Given the description of an element on the screen output the (x, y) to click on. 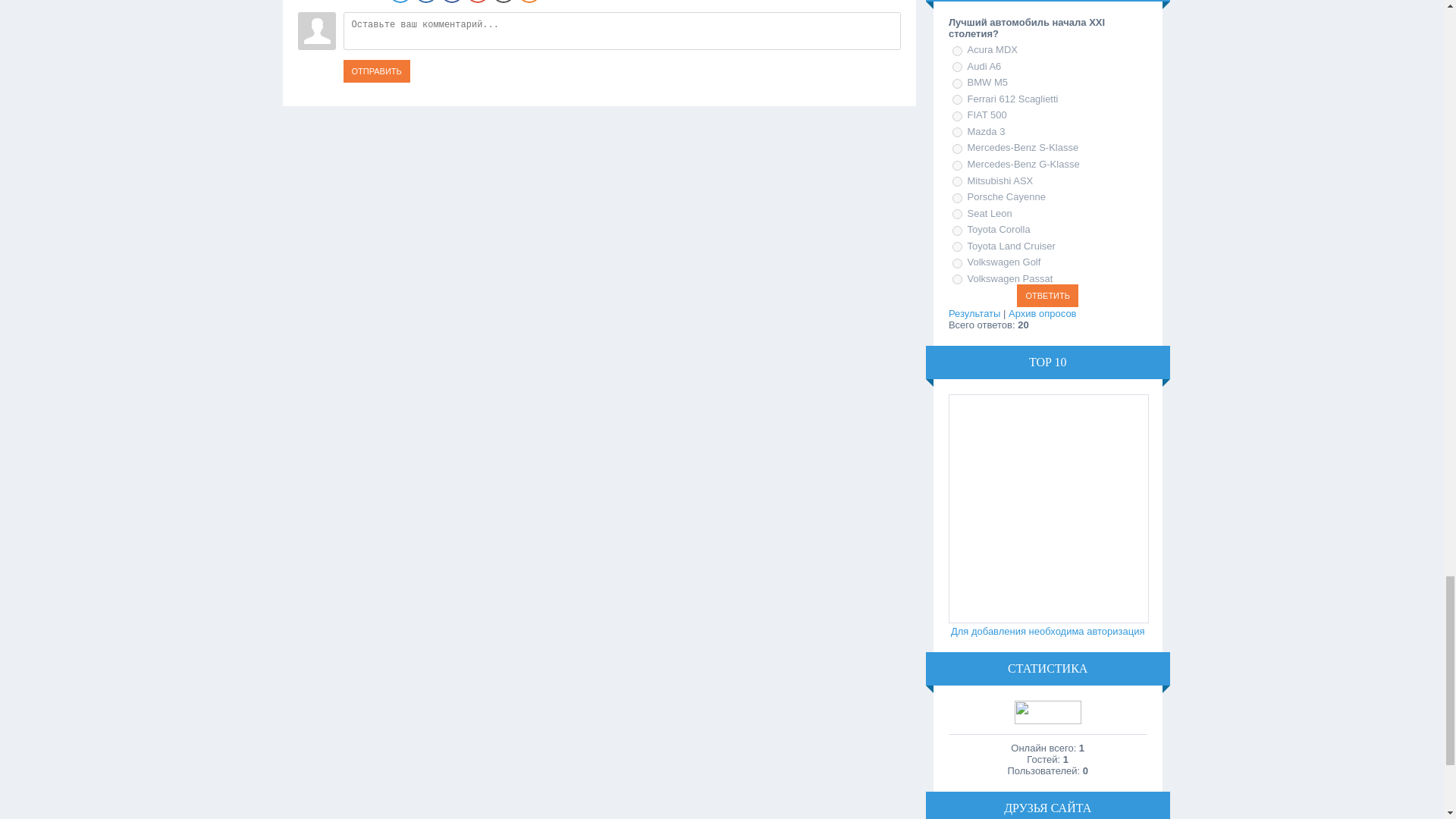
15 (957, 279)
11 (957, 214)
6 (957, 132)
10 (957, 198)
2 (957, 67)
4 (957, 99)
8 (957, 165)
12 (957, 230)
7 (957, 148)
5 (957, 116)
